Given the description of an element on the screen output the (x, y) to click on. 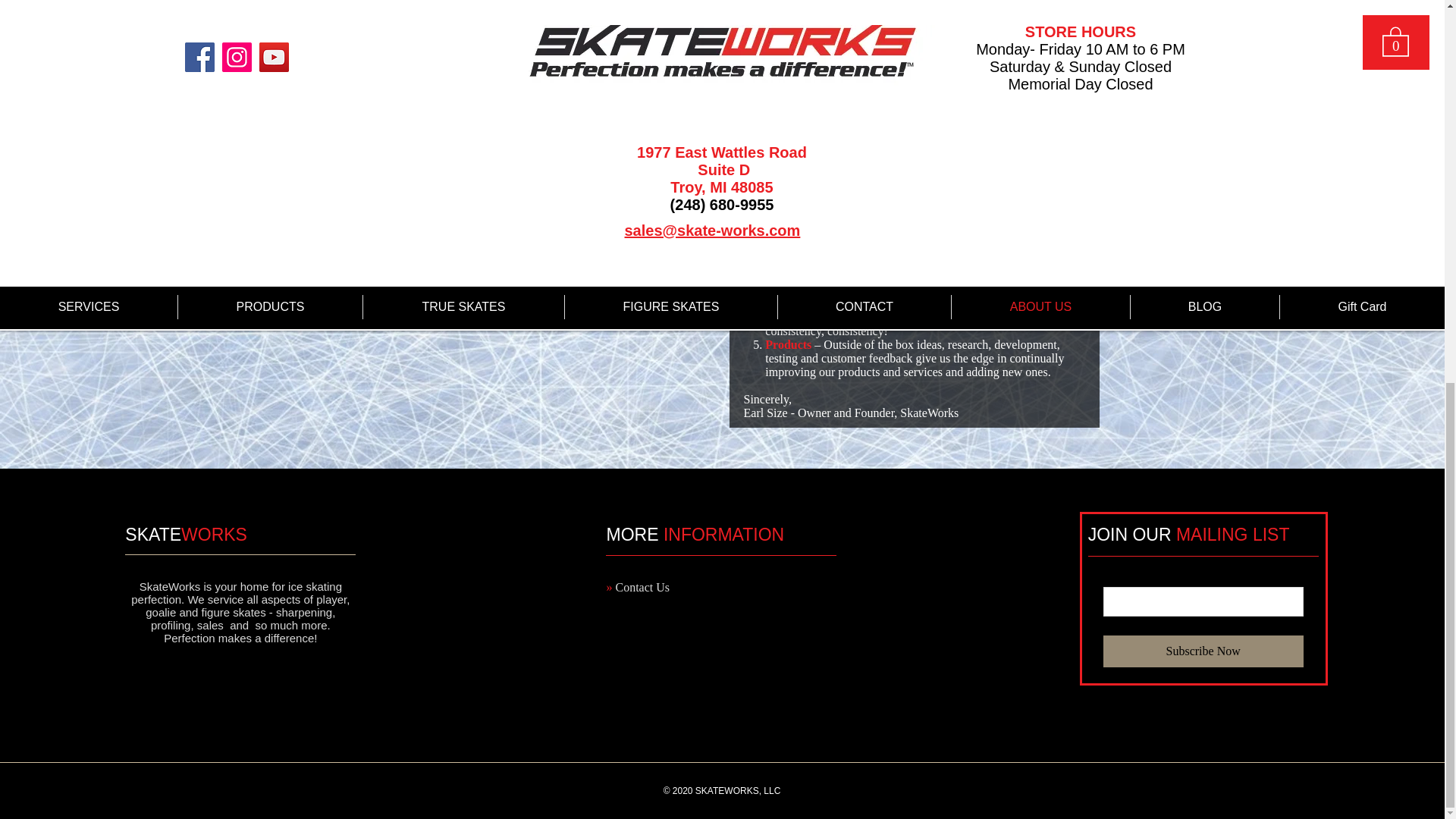
Subscribe Now (1203, 651)
Contact Us (641, 586)
